Given the description of an element on the screen output the (x, y) to click on. 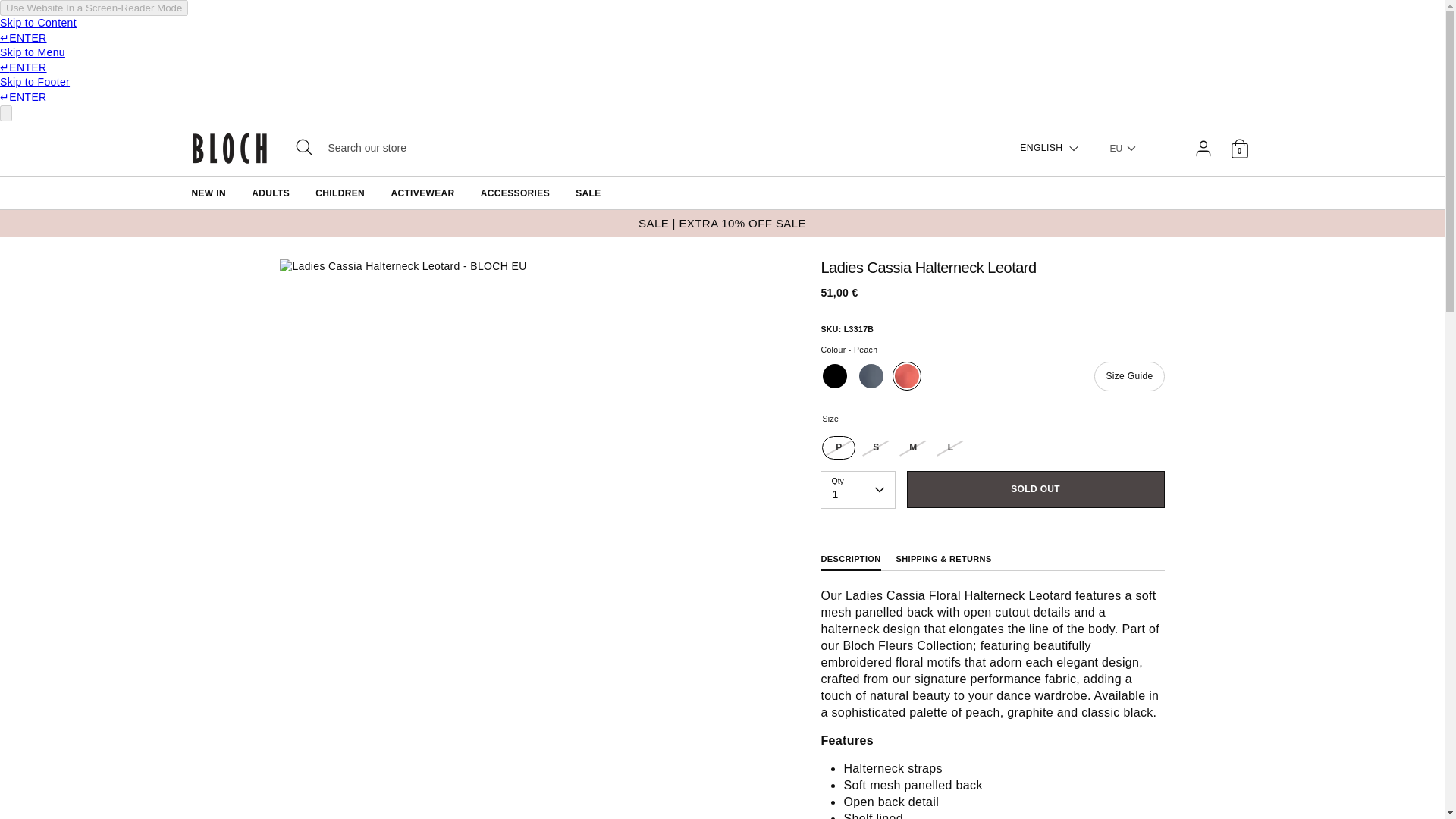
0 (1238, 148)
ENGLISH (1050, 147)
